Given the description of an element on the screen output the (x, y) to click on. 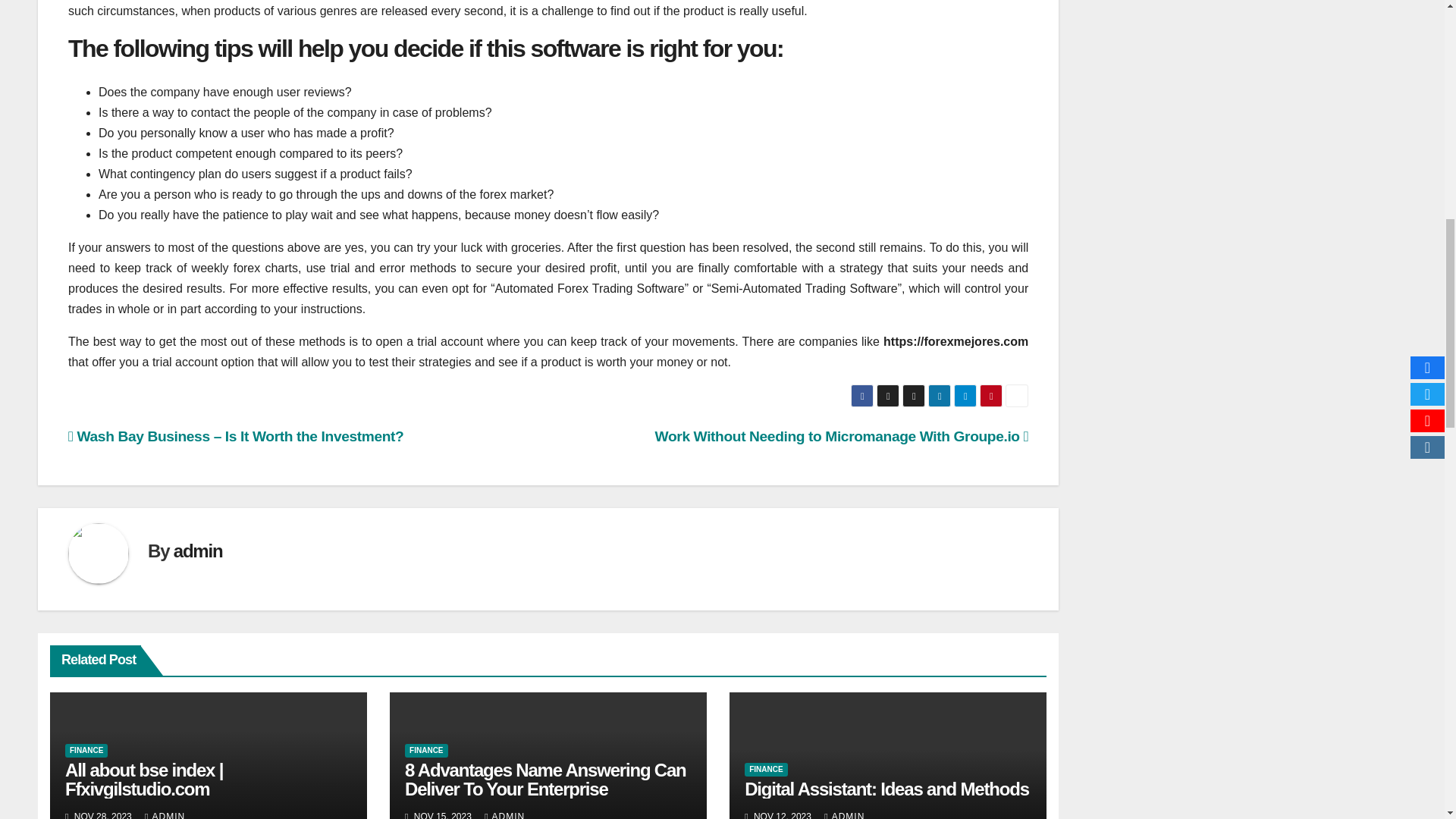
admin (197, 550)
FINANCE (425, 750)
ADMIN (504, 815)
Permalink to: Digital Assistant: Ideas and Methods (886, 788)
FINANCE (765, 769)
8 Advantages Name Answering Can Deliver To Your Enterprise (544, 779)
FINANCE (86, 750)
ADMIN (164, 815)
Work Without Needing to Micromanage With Groupe.io (842, 436)
